Given the description of an element on the screen output the (x, y) to click on. 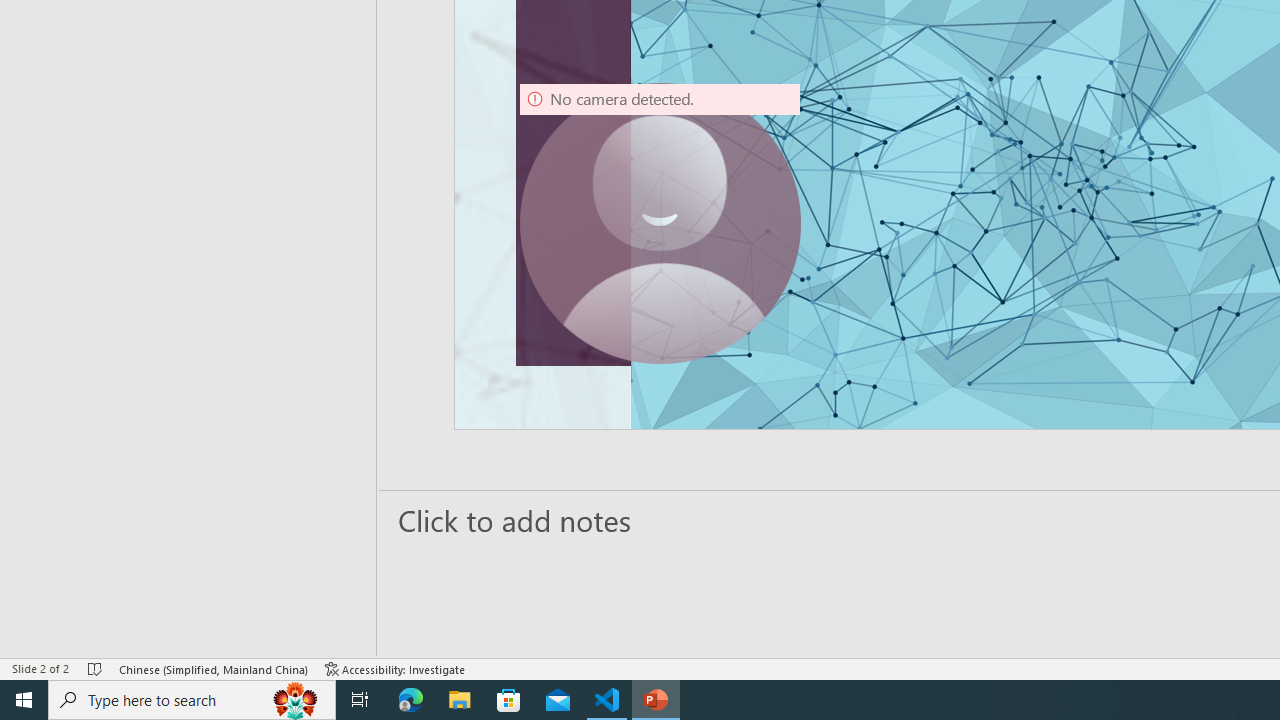
Accessibility Checker Accessibility: Investigate (395, 668)
Spell Check No Errors (95, 668)
Camera 9, No camera detected. (660, 223)
